Given the description of an element on the screen output the (x, y) to click on. 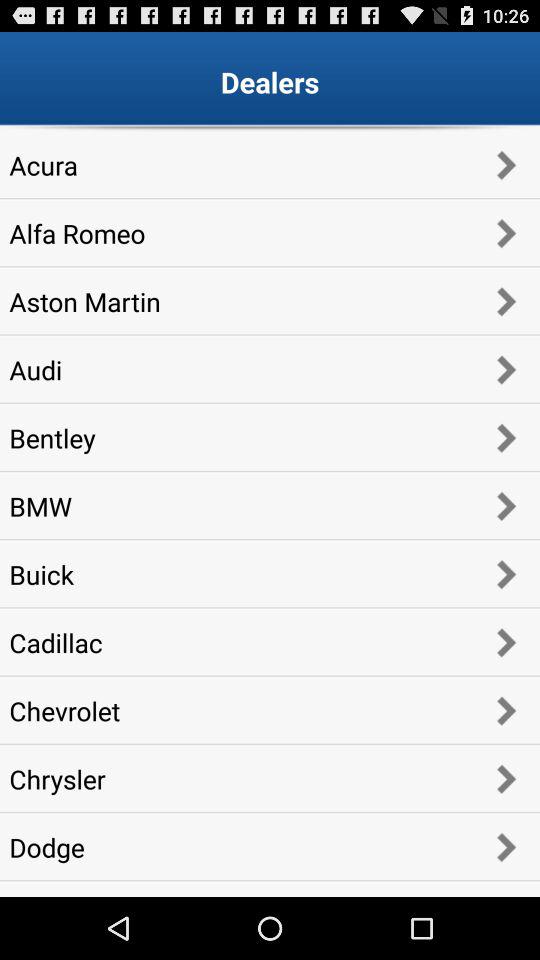
click on arrow which is next to dodge (505, 847)
click on the first arrow symbol on the top (505, 164)
click on the button which is next to the chrysler (505, 778)
click on the button which is next to the cadillac (505, 641)
